Given the description of an element on the screen output the (x, y) to click on. 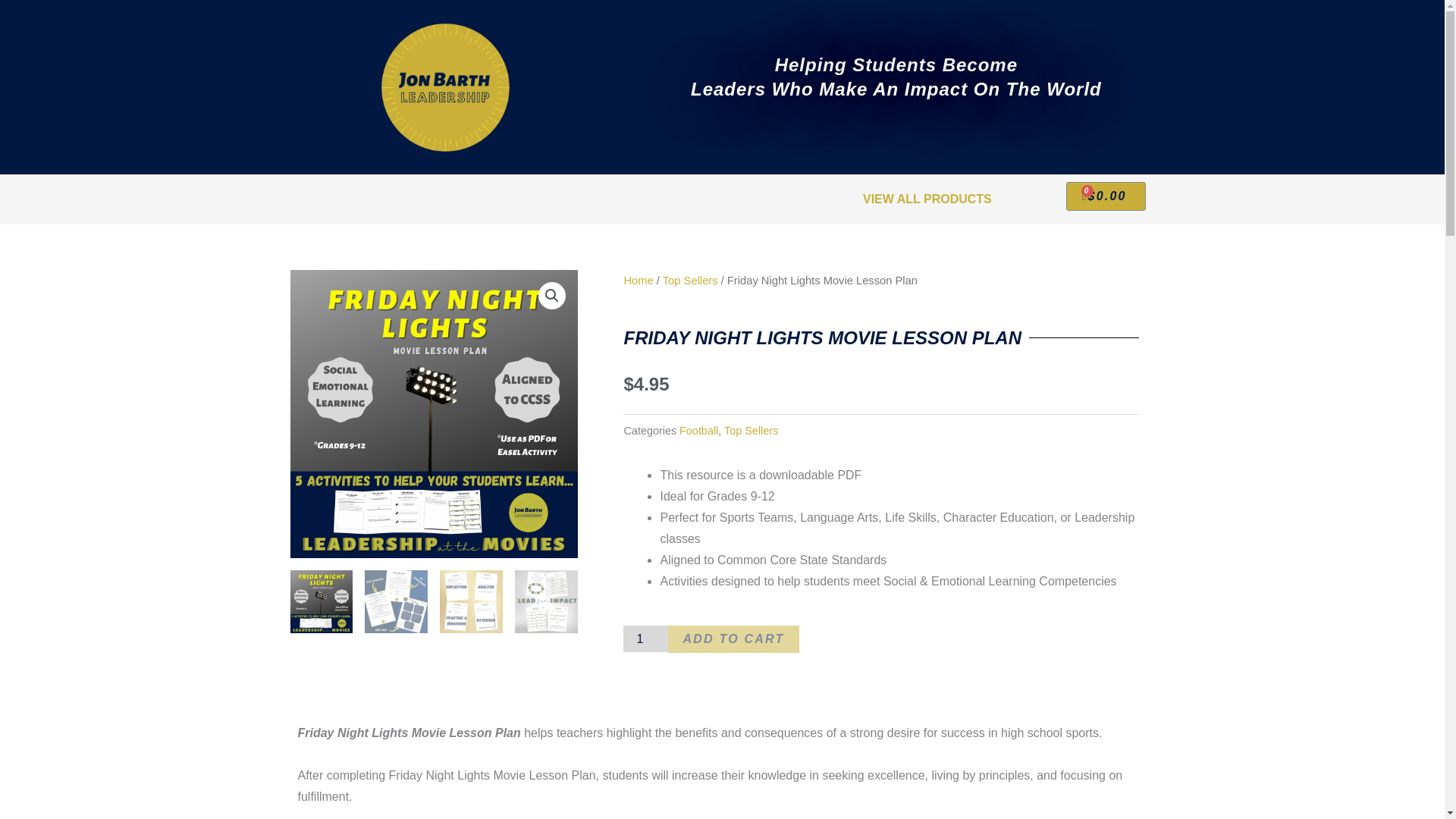
Football (698, 430)
ADD TO CART (733, 638)
Qty (644, 638)
friday-night-lights-movie-questions (433, 413)
VIEW ALL PRODUCTS (927, 199)
1 (644, 638)
Top Sellers (689, 280)
Top Sellers (750, 430)
friday-night-lights-movie-lesson-plans (722, 413)
Home (637, 280)
